Given the description of an element on the screen output the (x, y) to click on. 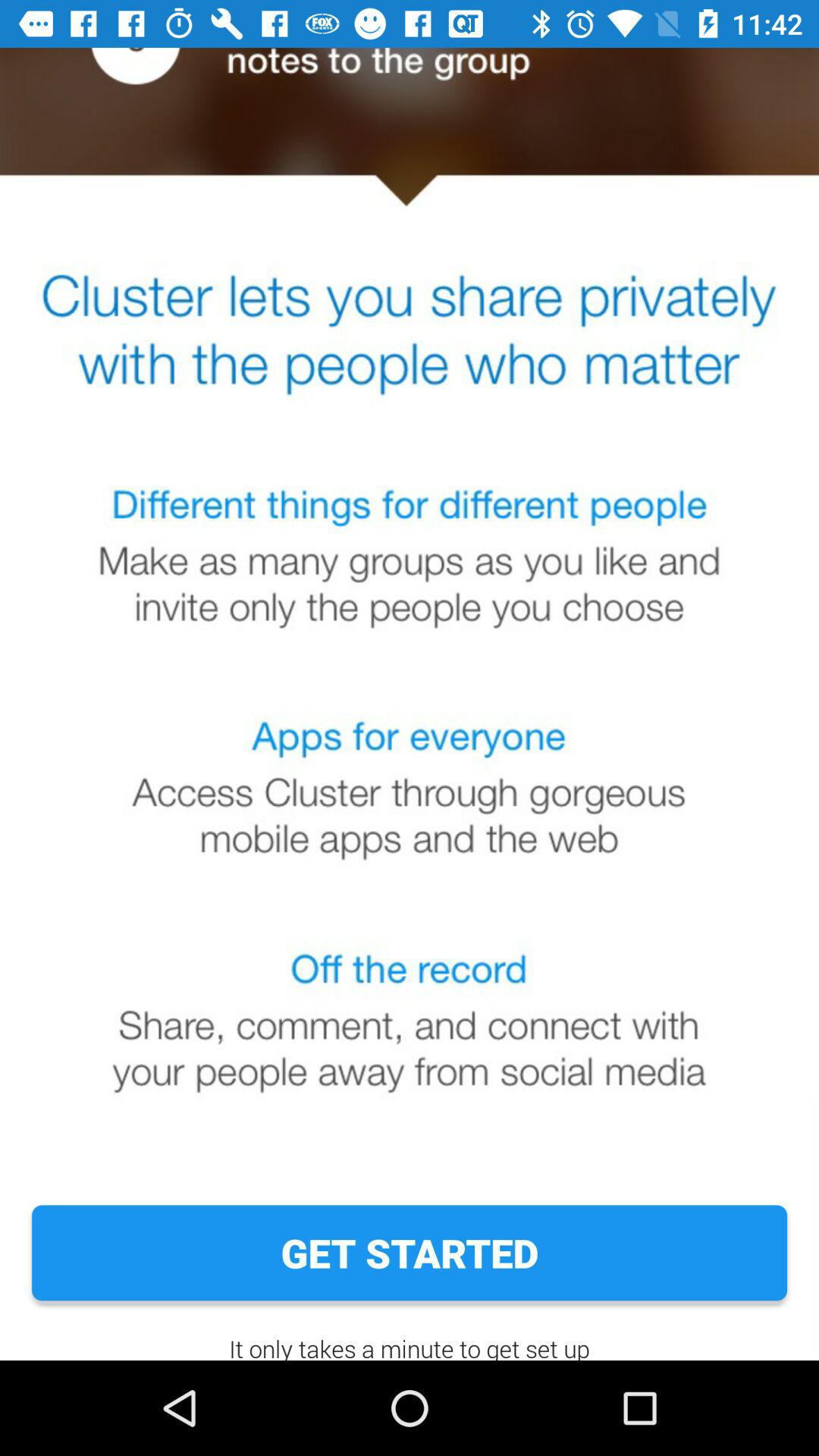
tap icon above the it only takes icon (409, 1252)
